Given the description of an element on the screen output the (x, y) to click on. 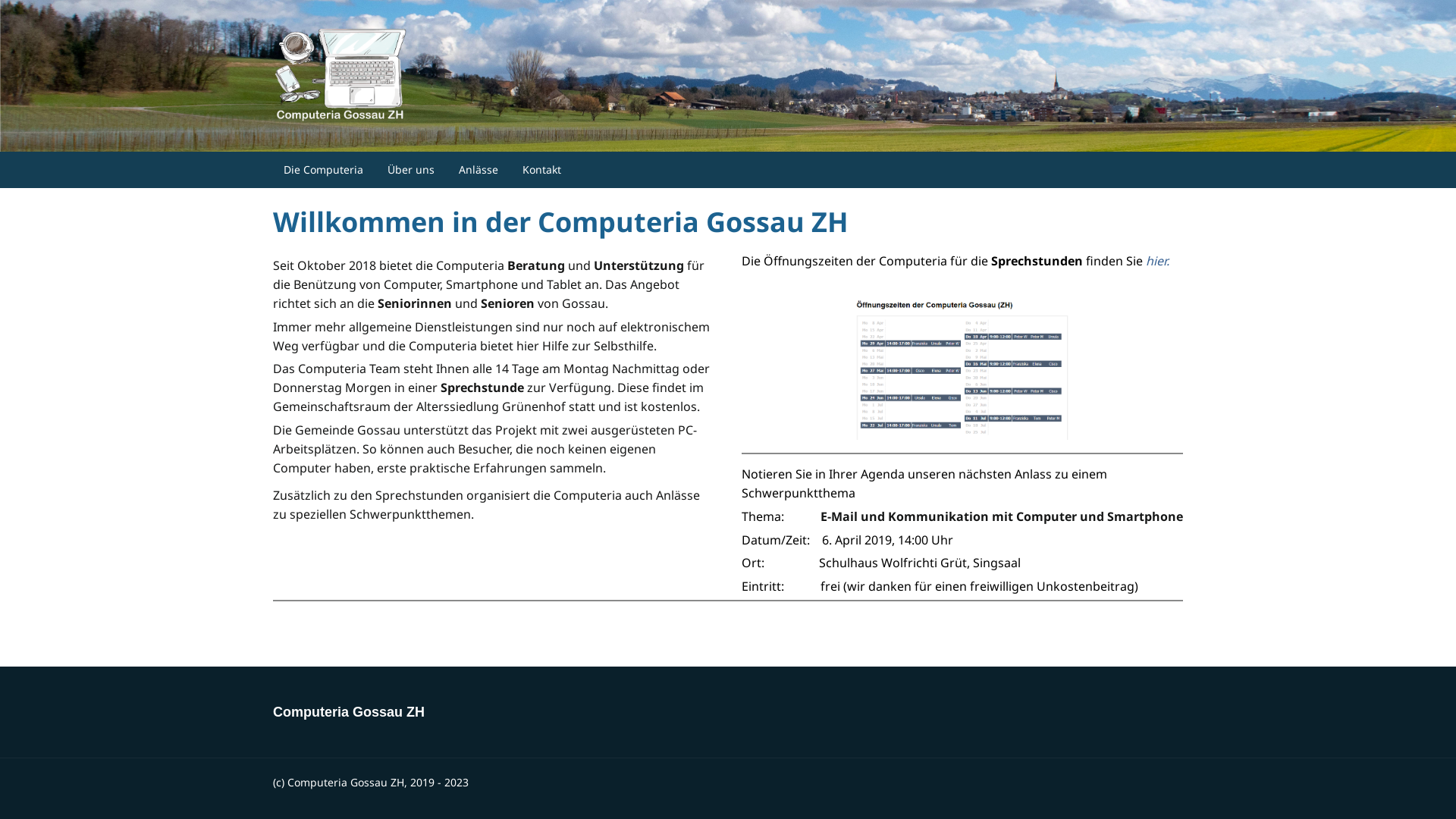
Die Computeria Element type: text (323, 169)
Computeria Gossau ZH Element type: text (348, 711)
hier. Element type: text (1157, 261)
E-Mail und Kommunikation mit Computer und Smartphone Element type: text (1001, 516)
Kontakt Element type: text (541, 169)
